Given the description of an element on the screen output the (x, y) to click on. 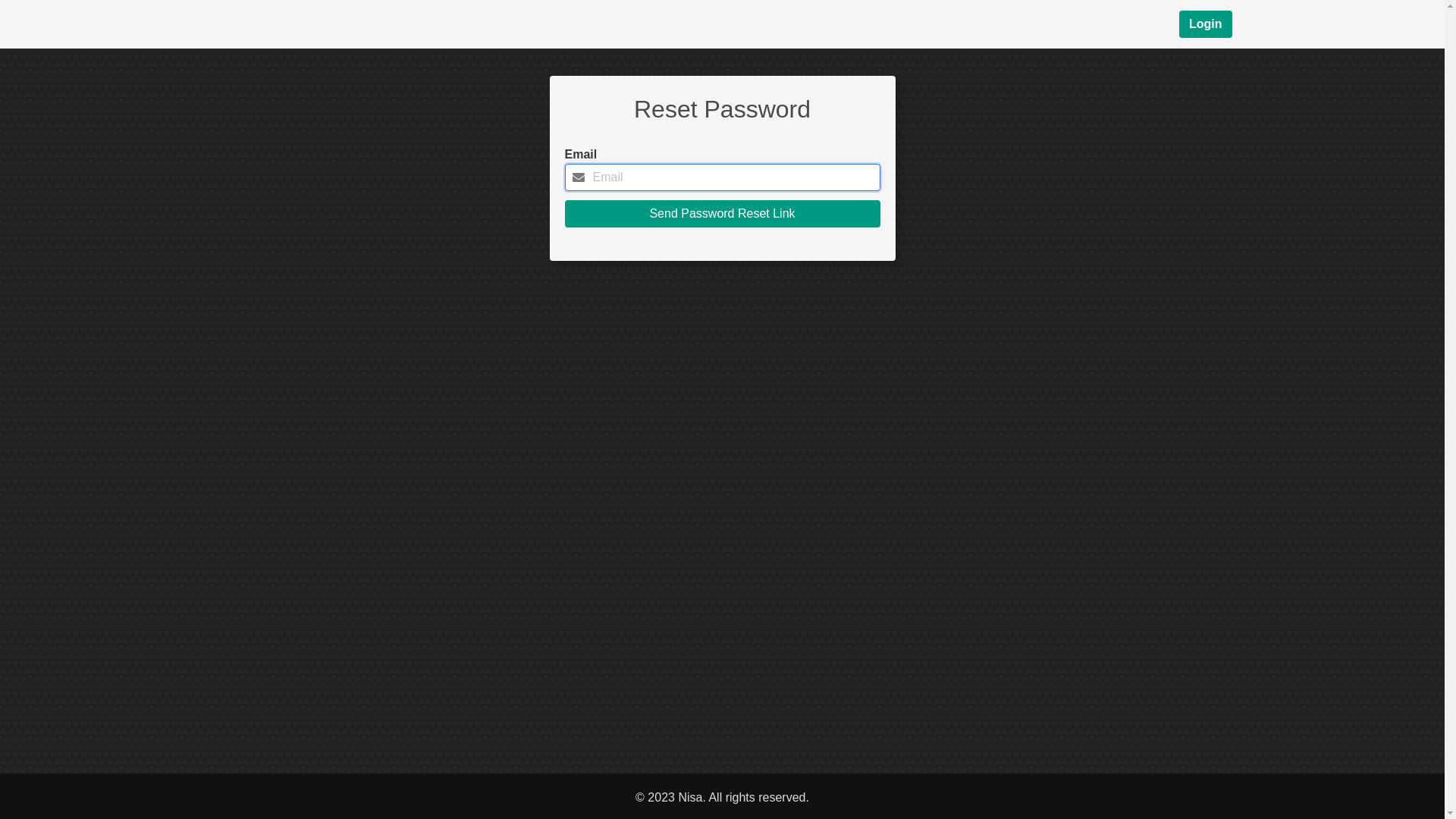
Send Password Reset Link Element type: text (721, 213)
Login Element type: text (1205, 23)
